Given the description of an element on the screen output the (x, y) to click on. 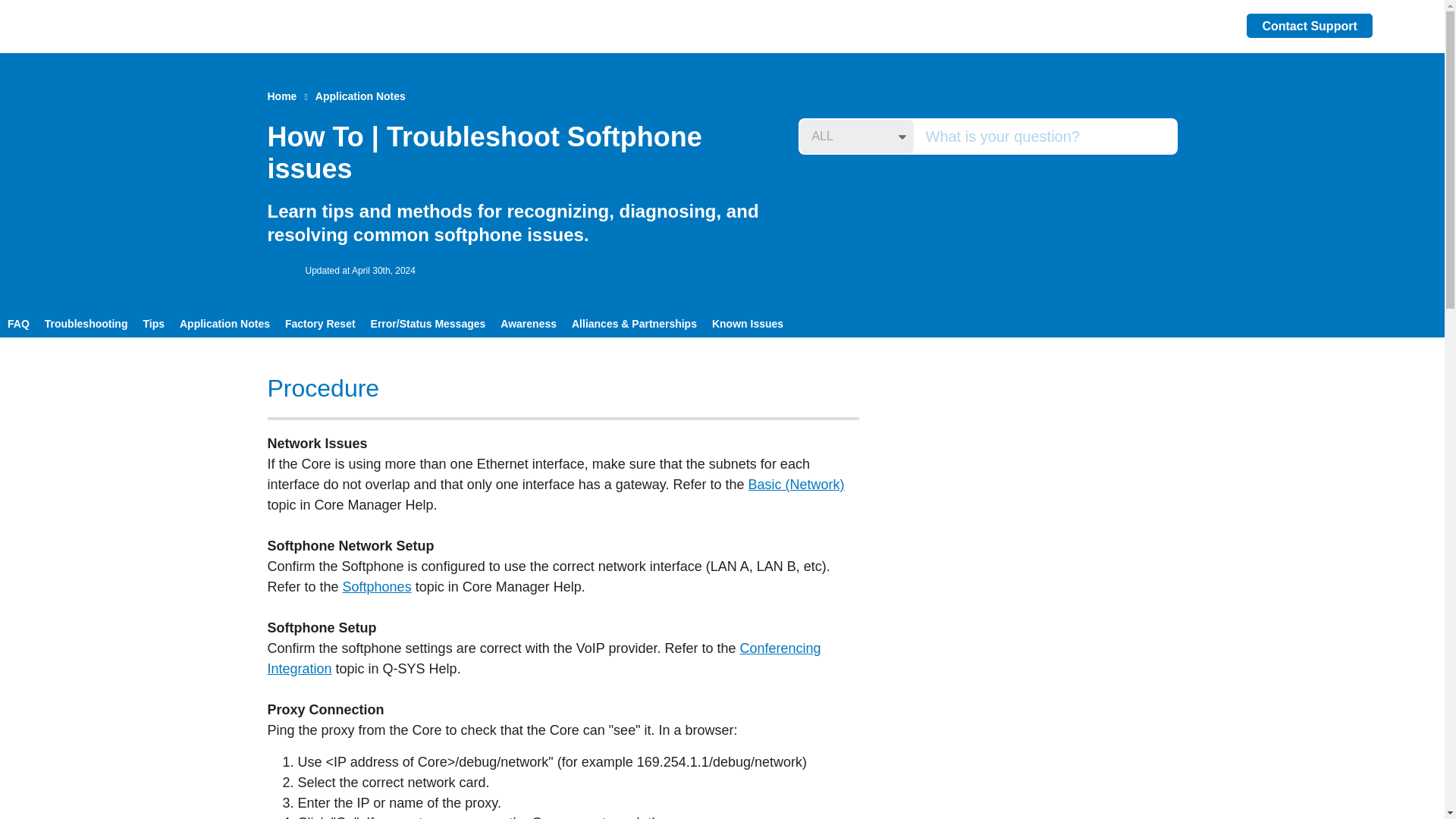
Application Notes (224, 323)
Conferencing Integration (543, 658)
Home (281, 96)
Softphones (377, 586)
Known Issues (747, 323)
Tips (153, 323)
Application Notes (360, 96)
Factory Reset (320, 323)
Troubleshooting (86, 323)
FAQ (18, 323)
Awareness (528, 323)
Contact Support (1308, 25)
